Given the description of an element on the screen output the (x, y) to click on. 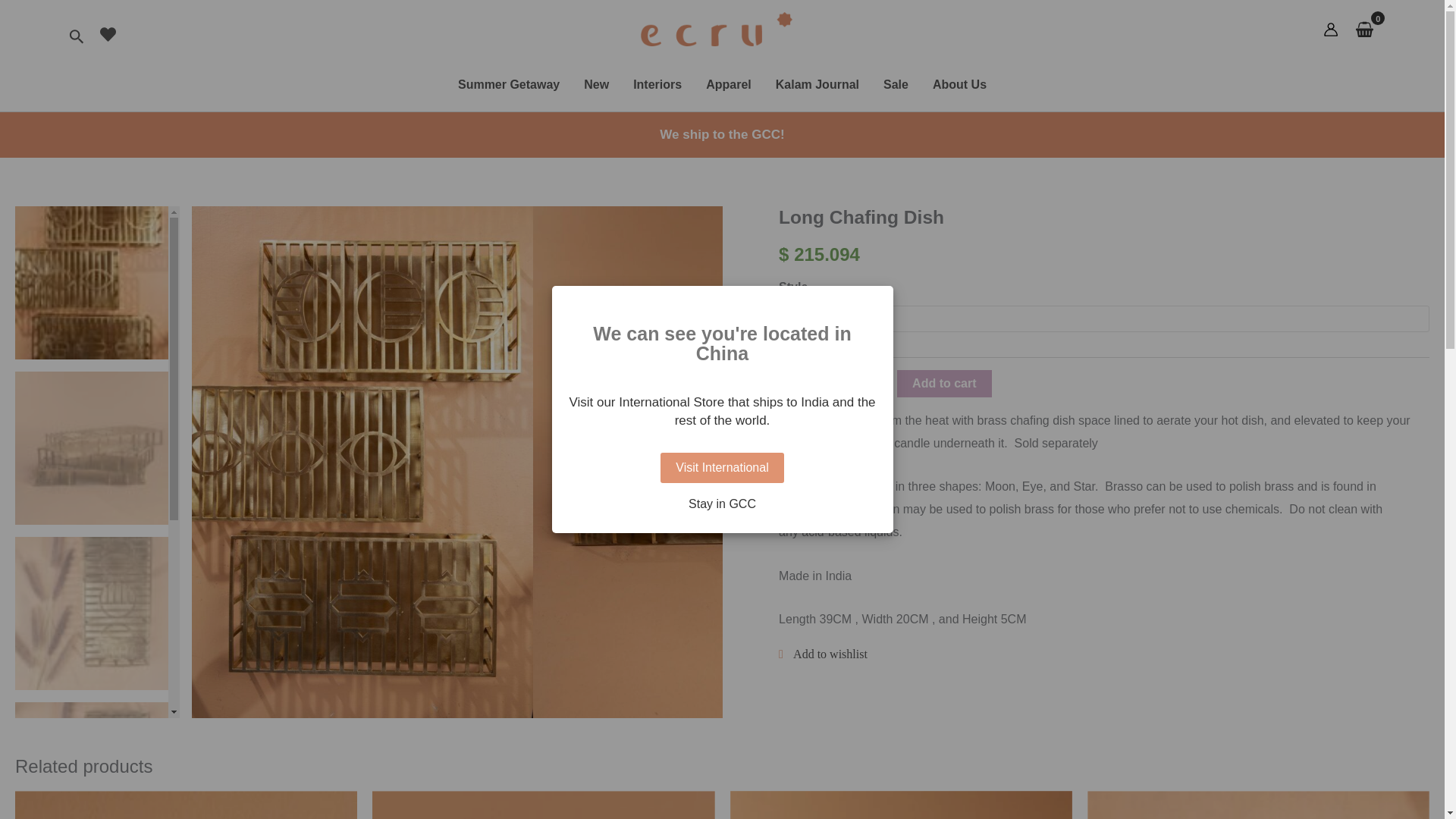
Interiors (657, 84)
1 (829, 383)
Kalam Journal (816, 84)
Apparel (728, 84)
Summer Getaway (508, 84)
New (596, 84)
